Given the description of an element on the screen output the (x, y) to click on. 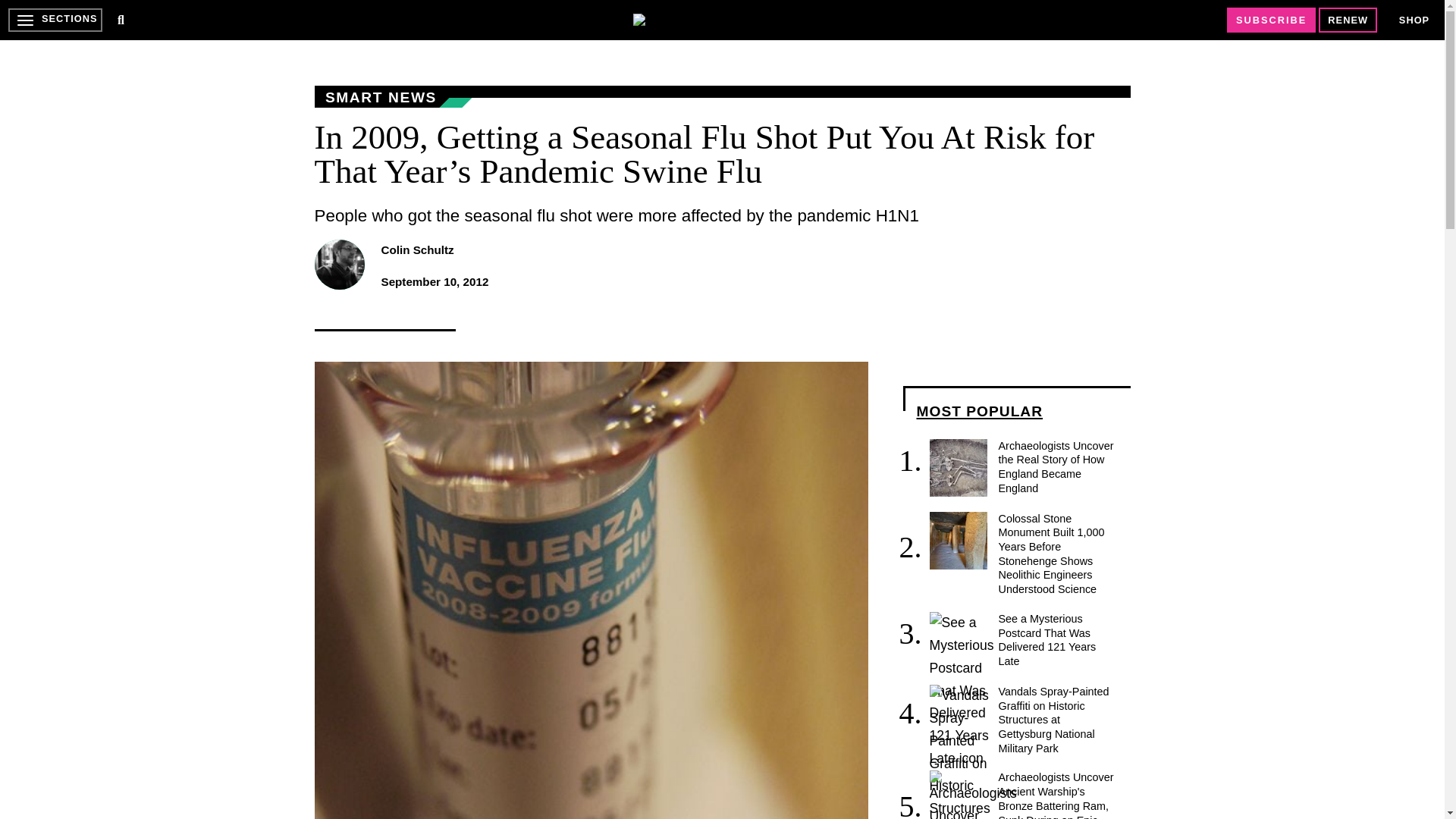
SUBSCRIBE (1271, 19)
SECTIONS (55, 19)
SHOP (1413, 19)
SUBSCRIBE (1271, 19)
RENEW (1347, 19)
SHOP (1414, 19)
RENEW (1348, 19)
